Given the description of an element on the screen output the (x, y) to click on. 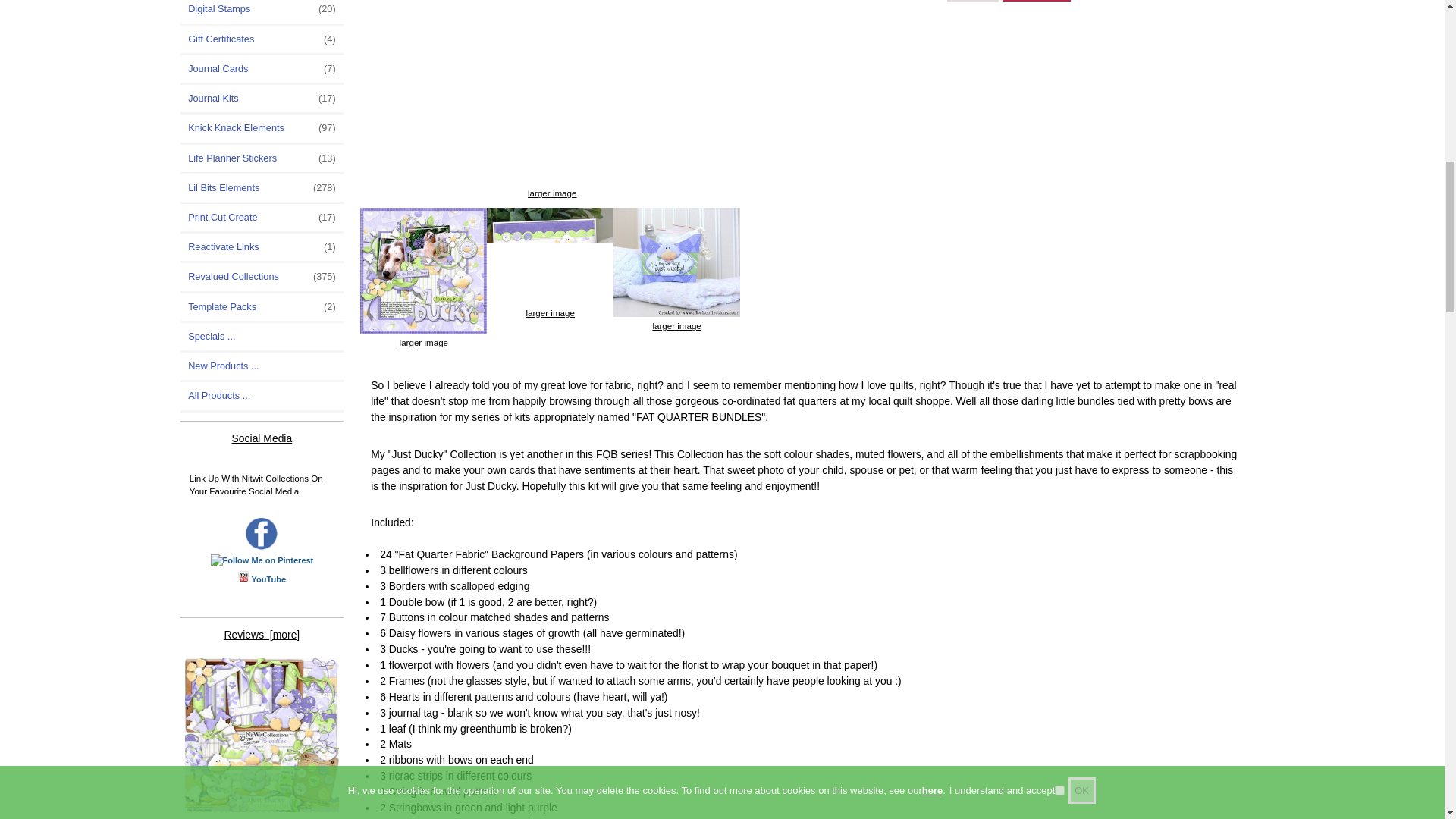
YouTube (268, 579)
New Products ... (261, 366)
Add to Cart (1034, 0)
FQB - Just Ducky (422, 270)
This is the cutest duck ever!!! He just melts your heart.... (261, 737)
FQB - Just Ducky (675, 262)
Specials ... (261, 336)
FQB - Just Ducky (551, 92)
1 (972, 1)
FQB - Just Ducky (549, 256)
All Products ... (261, 395)
FQB - Just Ducky (261, 735)
